Given the description of an element on the screen output the (x, y) to click on. 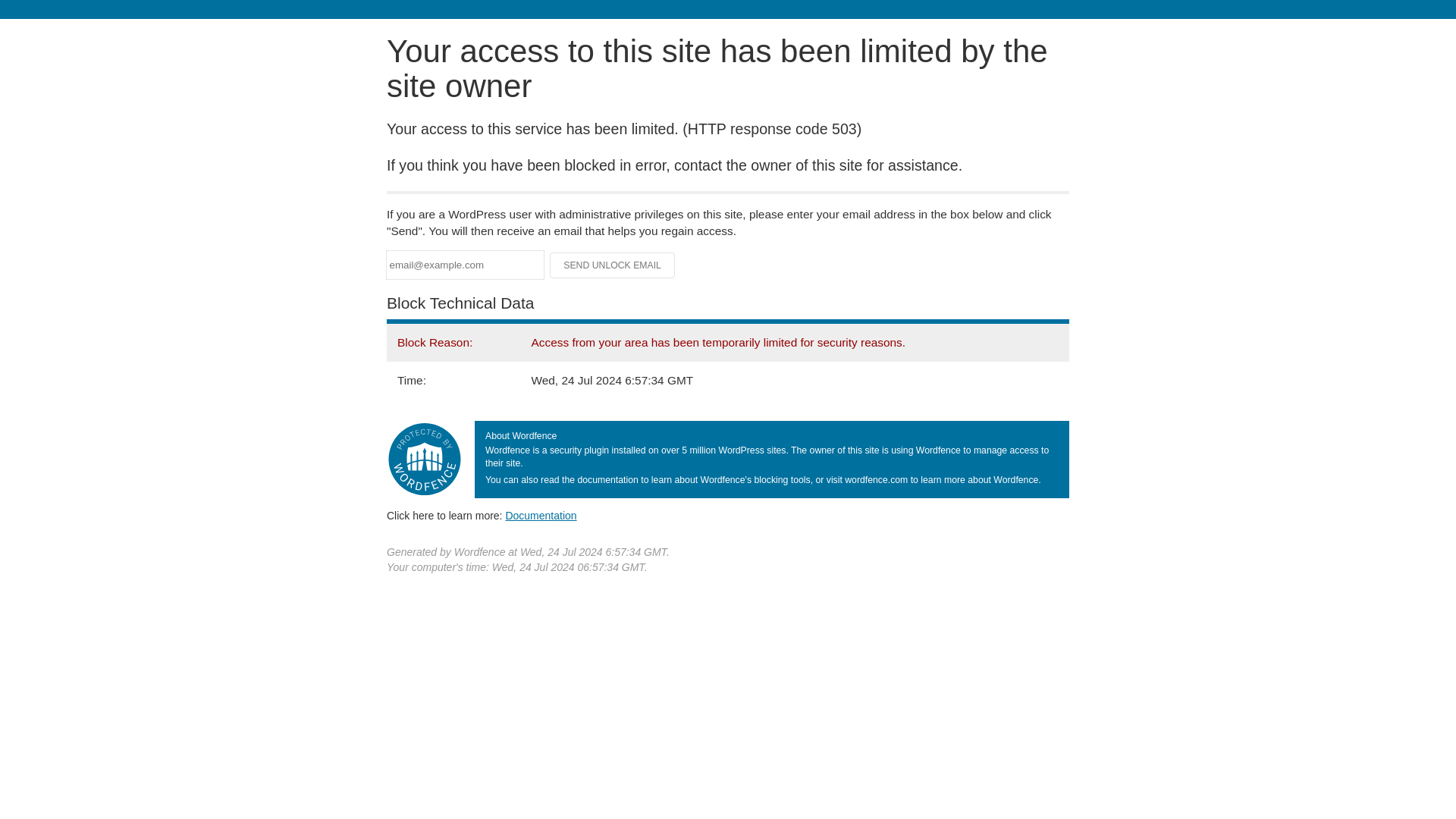
Send Unlock Email (612, 265)
Send Unlock Email (612, 265)
Documentation (540, 515)
